Given the description of an element on the screen output the (x, y) to click on. 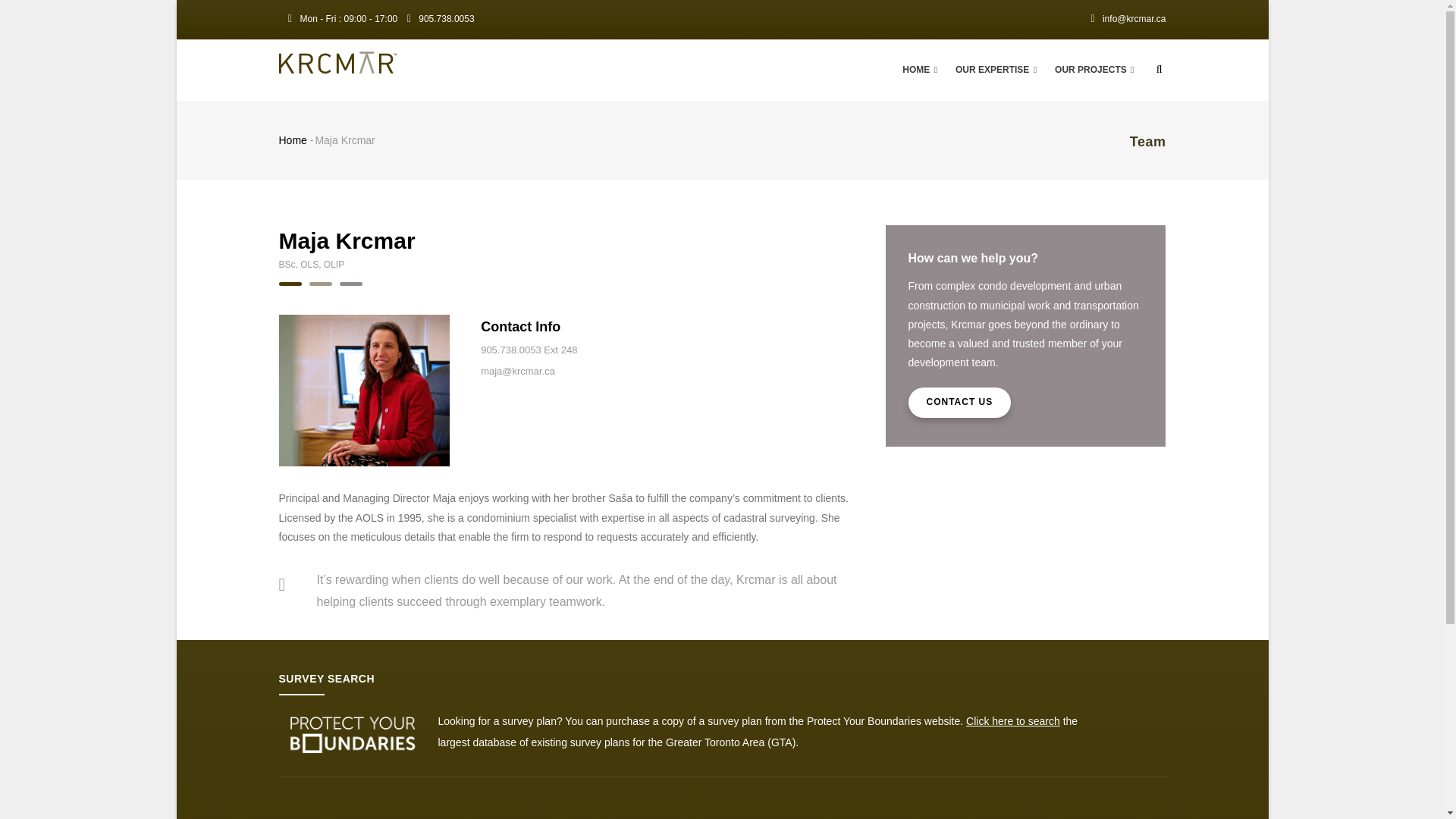
Home (293, 140)
Click here to search (1012, 720)
CONTACT US (959, 402)
Protect Your Boundaries (863, 720)
OUR EXPERTISE (995, 70)
Home (337, 62)
